Given the description of an element on the screen output the (x, y) to click on. 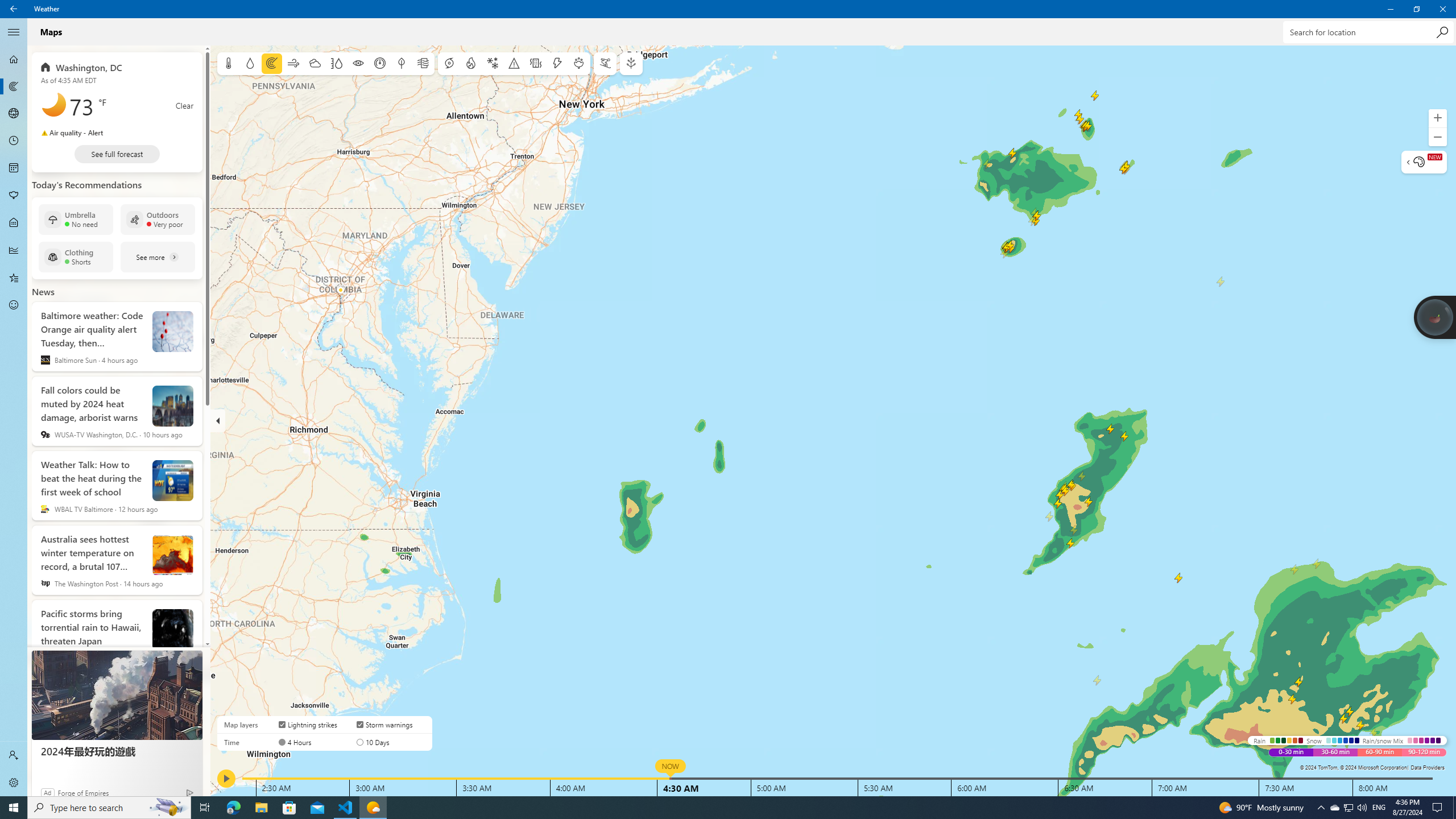
Hourly Forecast - Not Selected (13, 140)
Weather - 1 running window (373, 807)
Restore Weather (1416, 9)
